Given the description of an element on the screen output the (x, y) to click on. 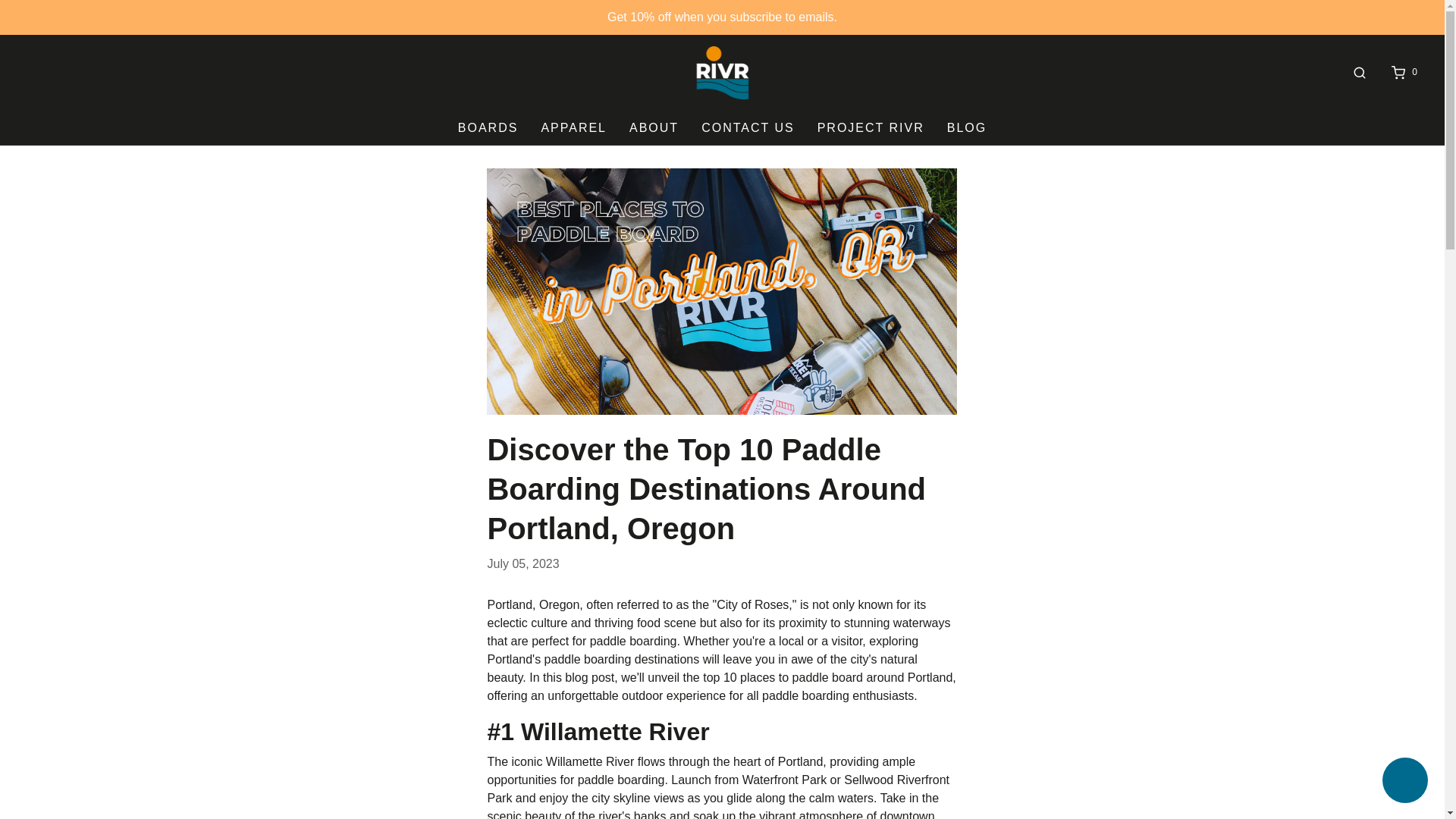
Cart (1403, 72)
Shopify online store chat (1404, 781)
0 (1403, 72)
Search (1359, 72)
APPAREL (573, 127)
PROJECT RIVR (870, 127)
CONTACT US (747, 127)
ABOUT (653, 127)
BLOG (967, 127)
BOARDS (488, 127)
